Given the description of an element on the screen output the (x, y) to click on. 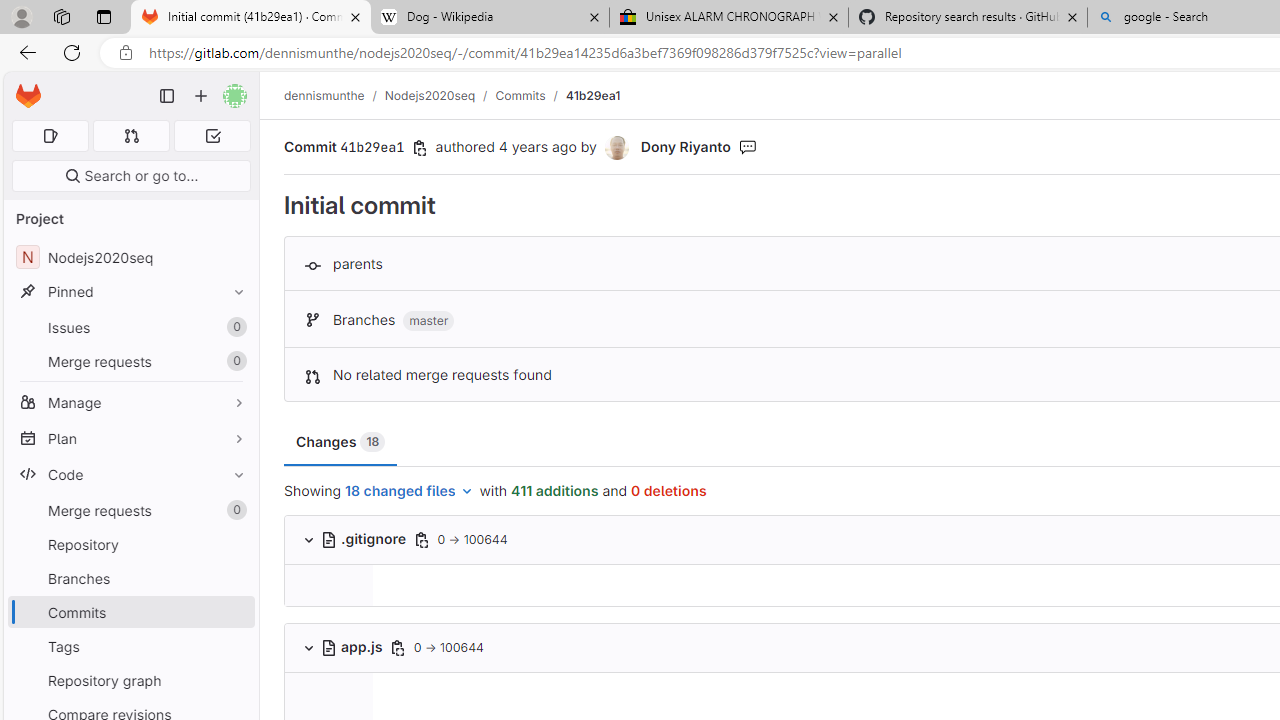
dennismunthe/ (334, 95)
Merge requests0 (130, 510)
Pin Tags (234, 646)
Unpin Issues (234, 327)
Pin Repository (234, 544)
Tags (130, 646)
Class: s16 chevron-down (308, 647)
Repository (130, 543)
Plan (130, 438)
Nodejs2020seq/ (440, 95)
To-Do list 0 (212, 136)
Dog - Wikipedia (490, 17)
Copy commit SHA (419, 148)
